Given the description of an element on the screen output the (x, y) to click on. 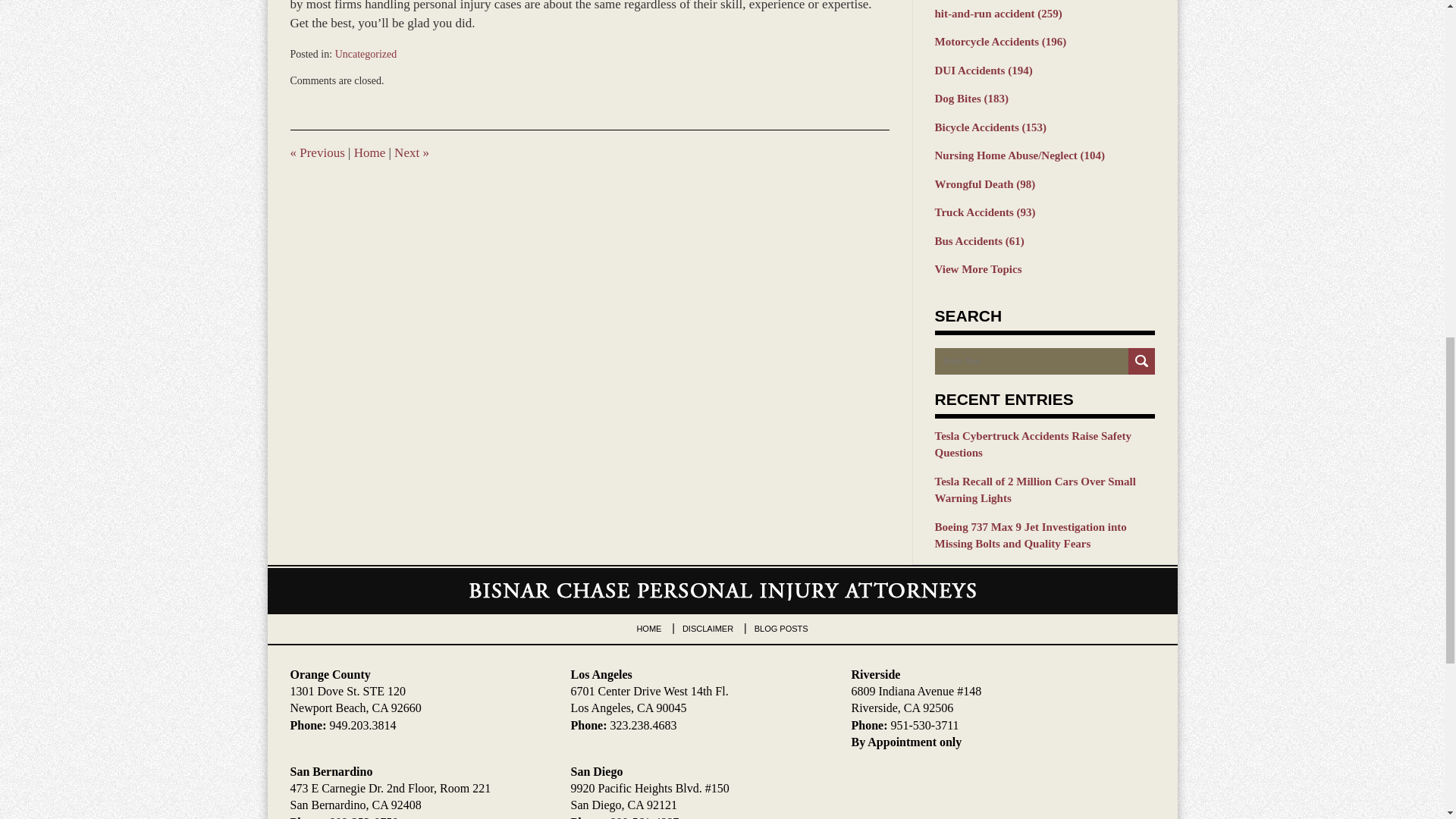
View More Topics (1044, 269)
Home (369, 152)
SEARCH (1141, 361)
Tesla Recall of 2 Million Cars Over Small Warning Lights (1044, 489)
Tesla Cybertruck Accidents Raise Safety Questions (1044, 444)
View all posts in Uncategorized (365, 53)
Uncategorized (365, 53)
